Given the description of an element on the screen output the (x, y) to click on. 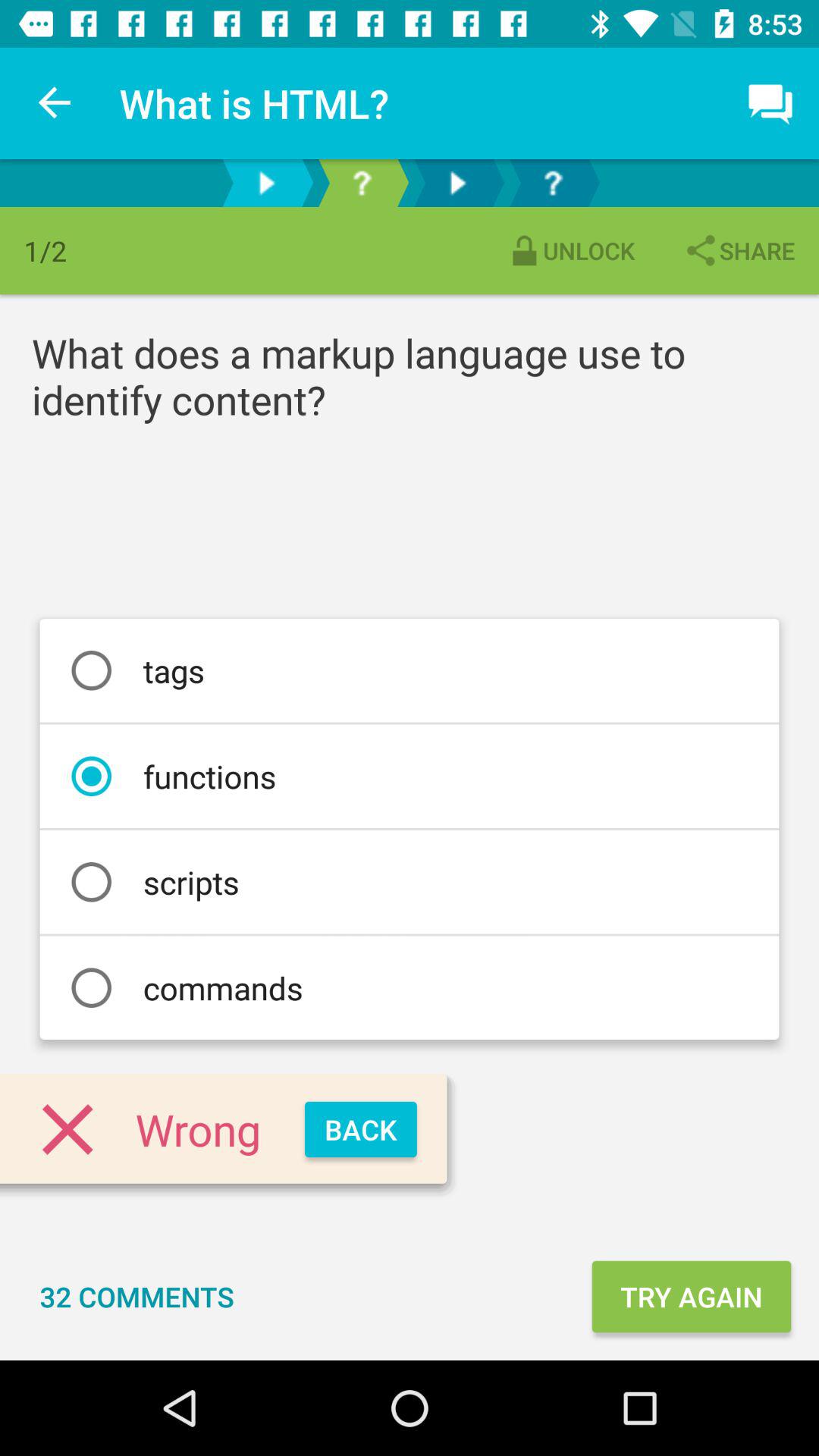
turn off the back (360, 1129)
